Given the description of an element on the screen output the (x, y) to click on. 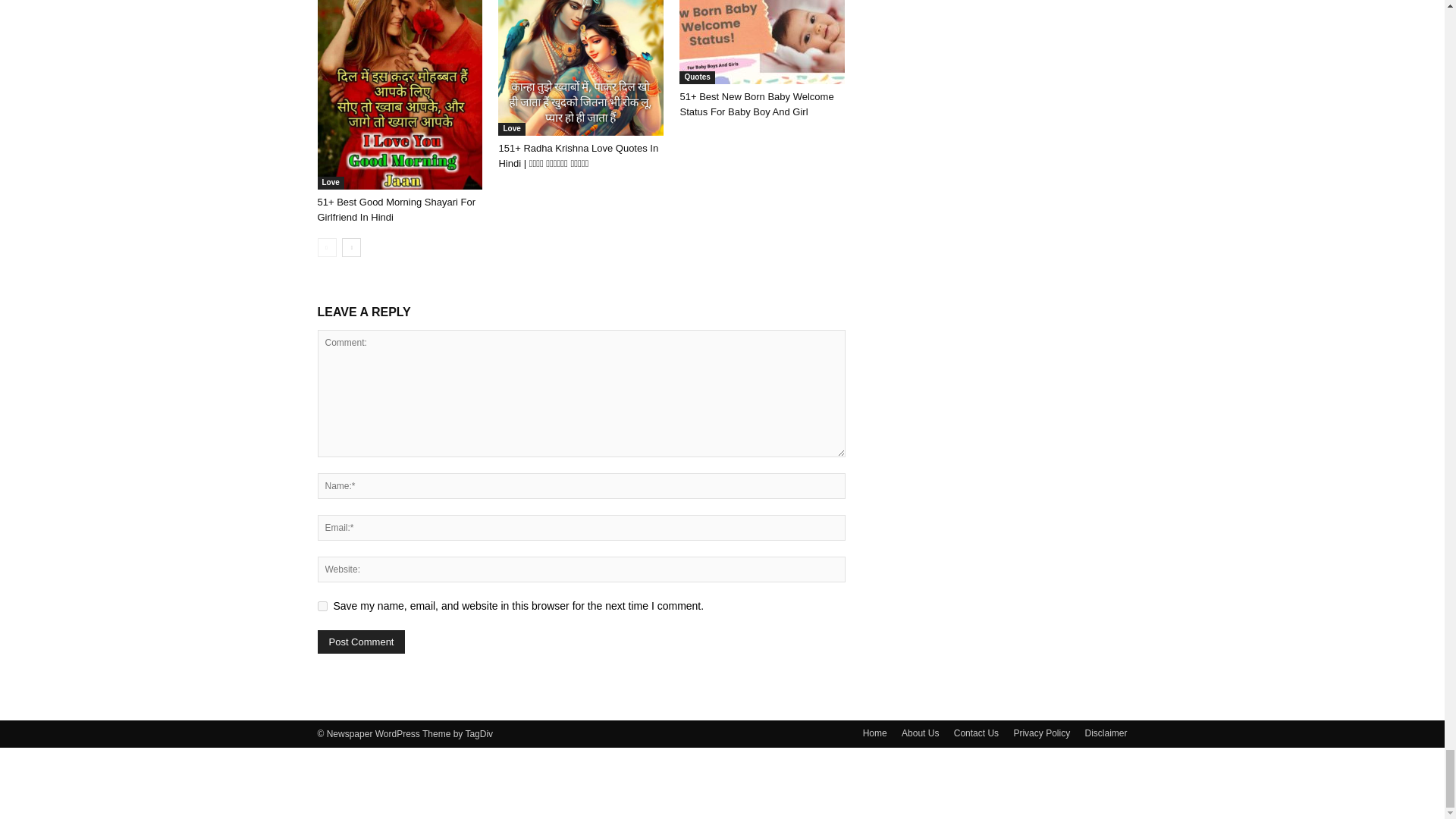
Post Comment (360, 641)
yes (321, 605)
